Given the description of an element on the screen output the (x, y) to click on. 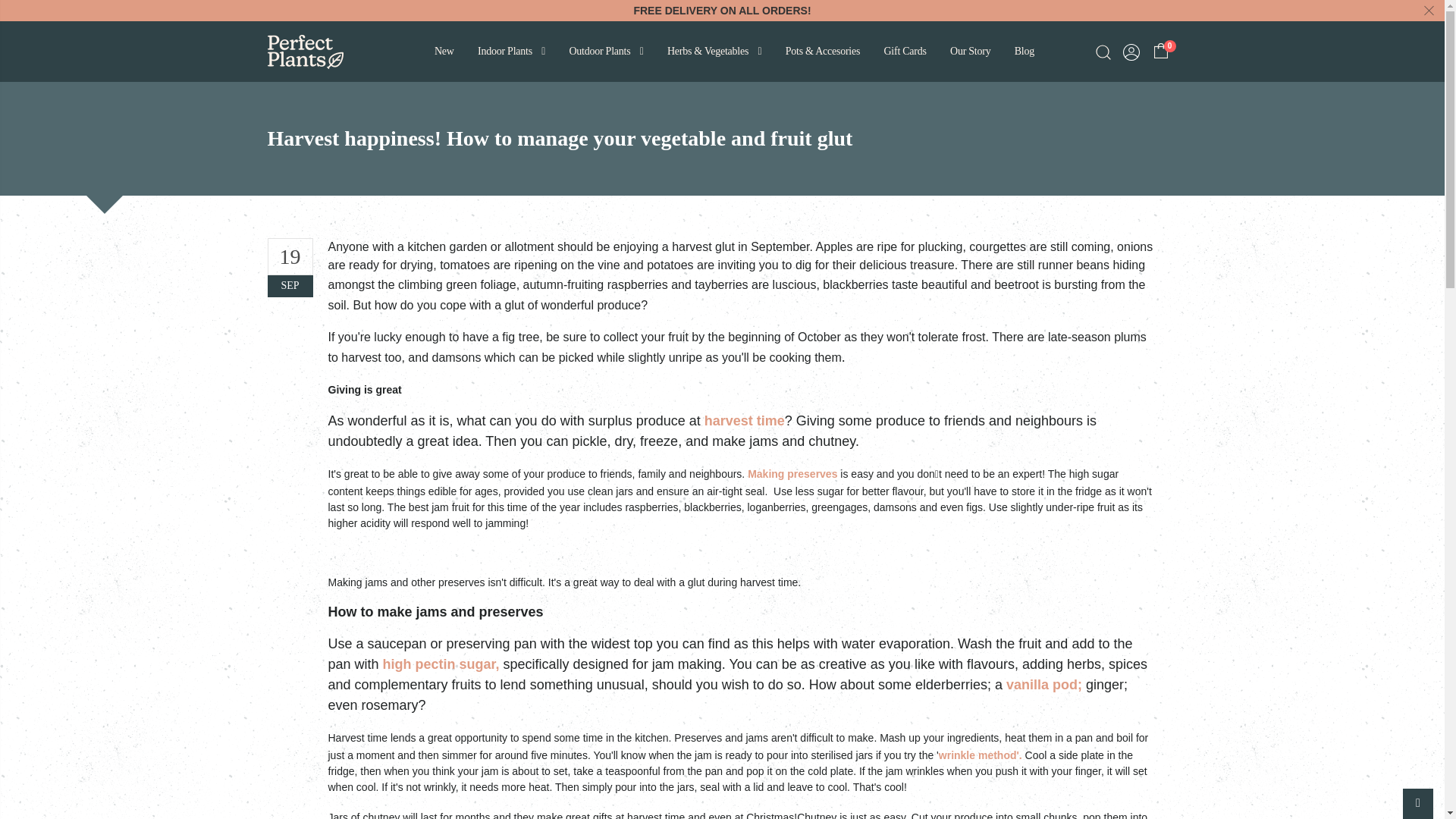
Gift Cards (904, 51)
Outdoor Plants (604, 51)
Blog (1023, 51)
Indoor Plants (509, 51)
Our Story (969, 51)
New (443, 51)
